Given the description of an element on the screen output the (x, y) to click on. 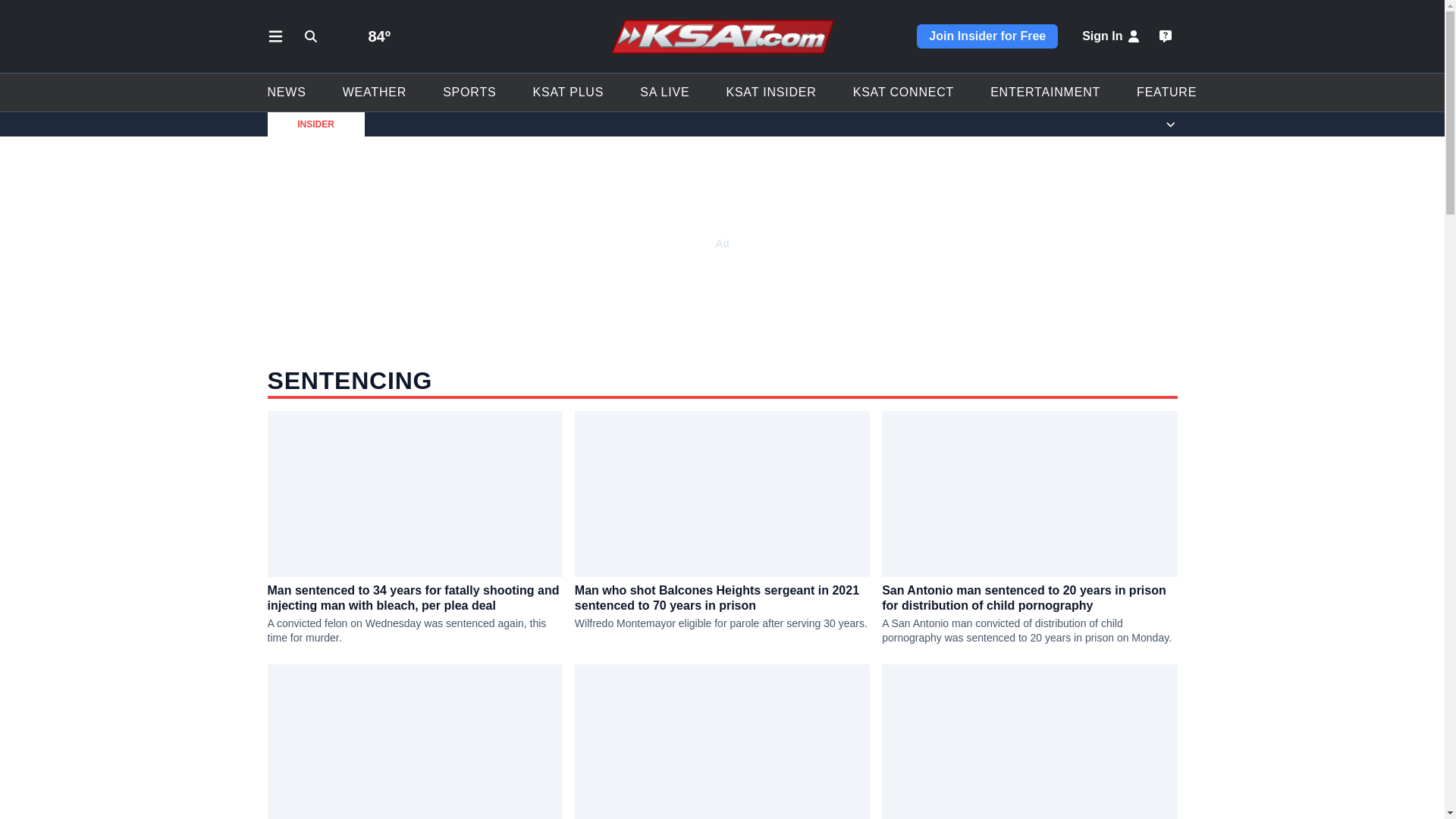
Join Insider for Free (987, 36)
Sign In (1111, 36)
